Given the description of an element on the screen output the (x, y) to click on. 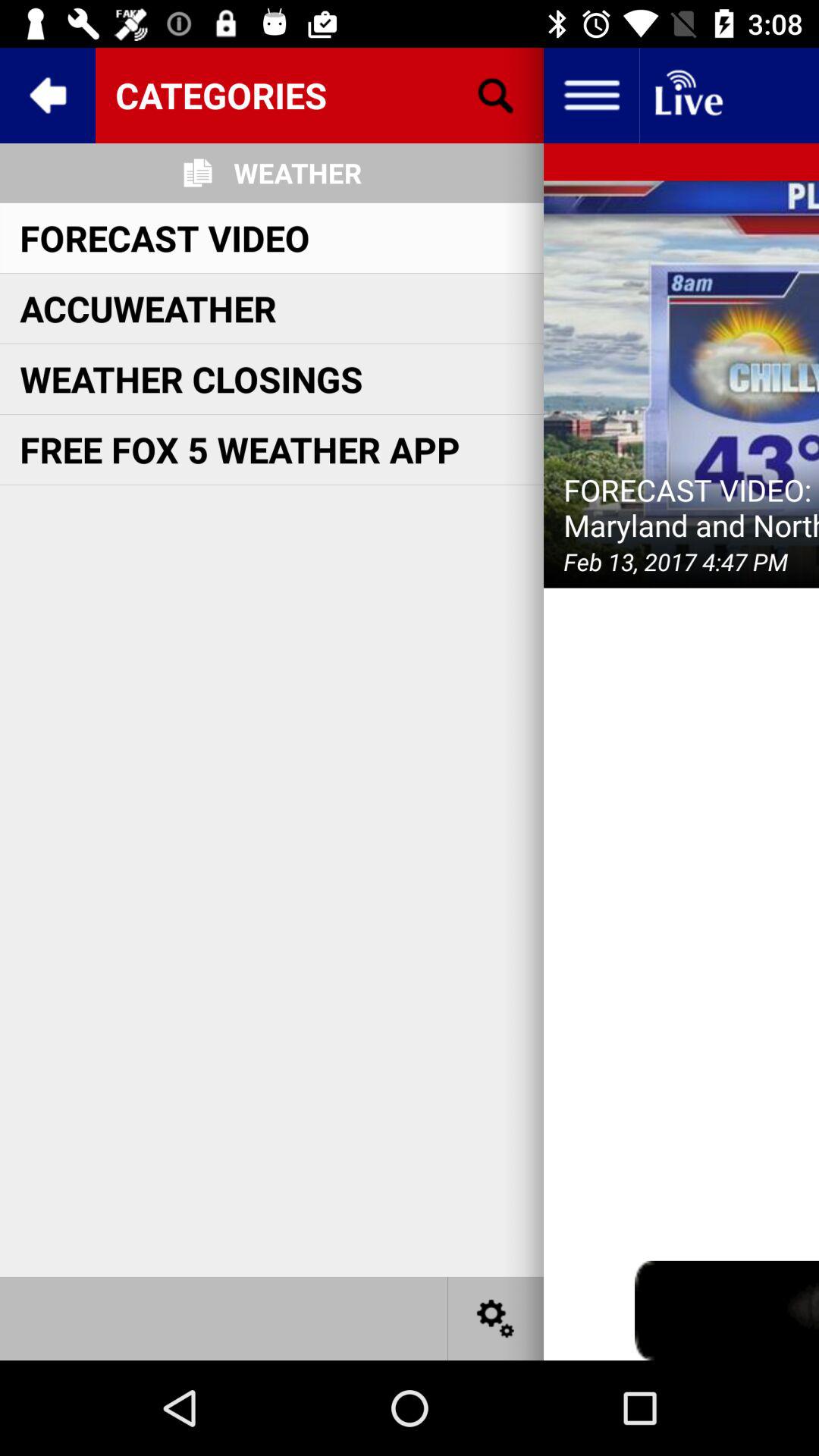
go live (687, 95)
